Given the description of an element on the screen output the (x, y) to click on. 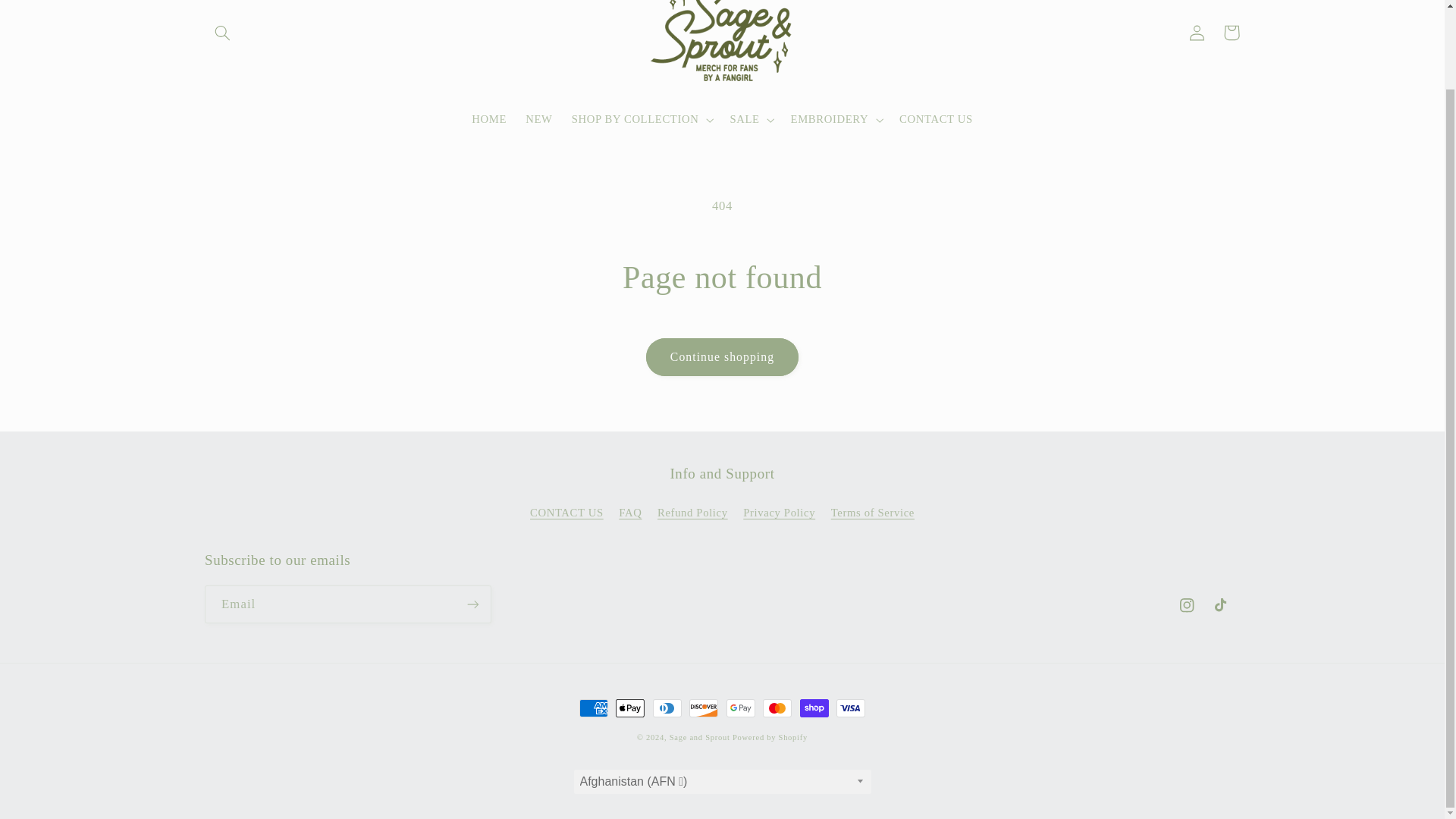
NEW (539, 119)
HOME (489, 119)
